Given the description of an element on the screen output the (x, y) to click on. 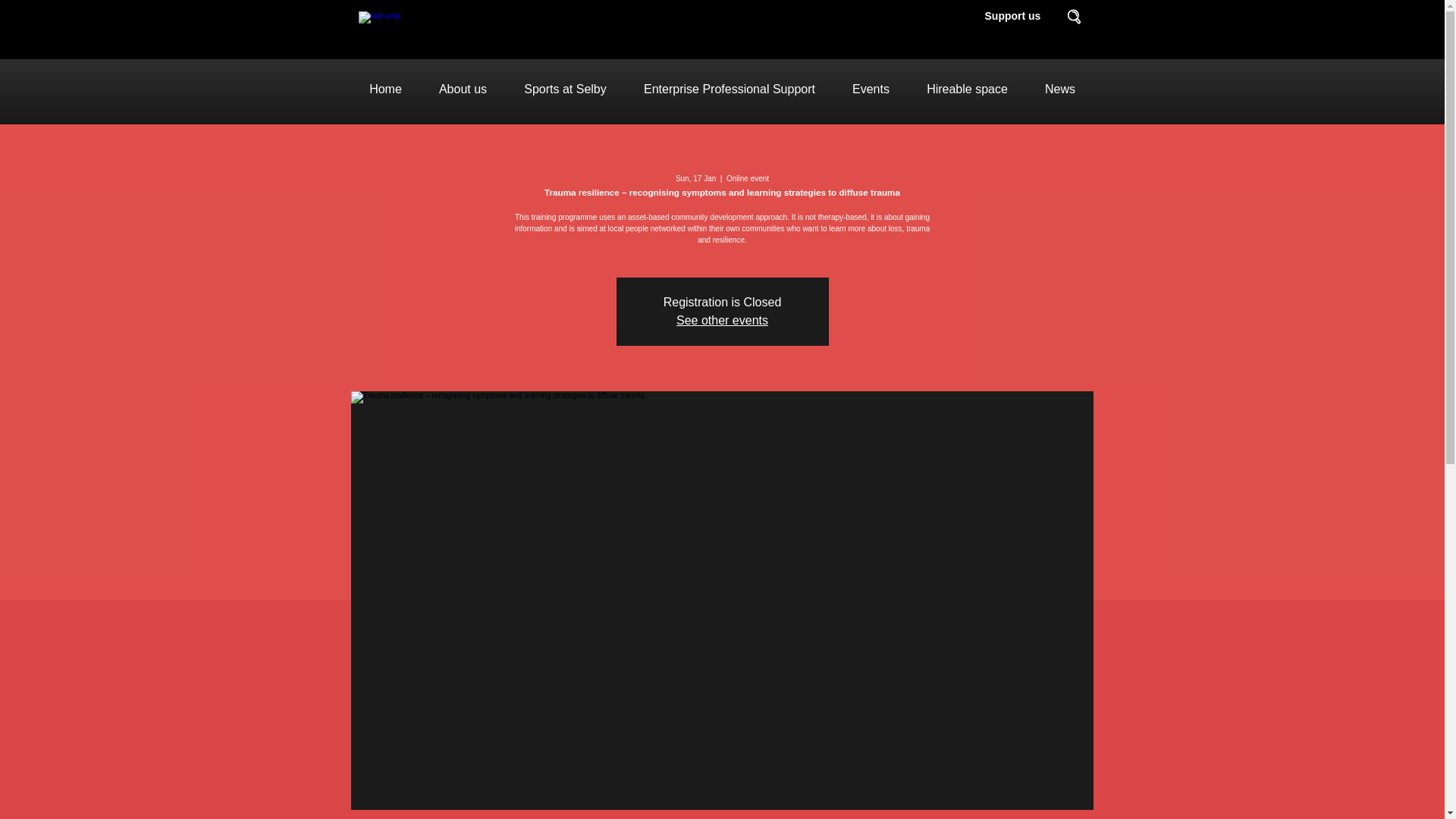
Sports at Selby (564, 88)
Events (871, 88)
Hireable space (967, 88)
Home (385, 88)
See other events (722, 319)
About us (462, 88)
News (1060, 88)
Support us (1012, 15)
Enterprise Professional Support (728, 88)
